Given the description of an element on the screen output the (x, y) to click on. 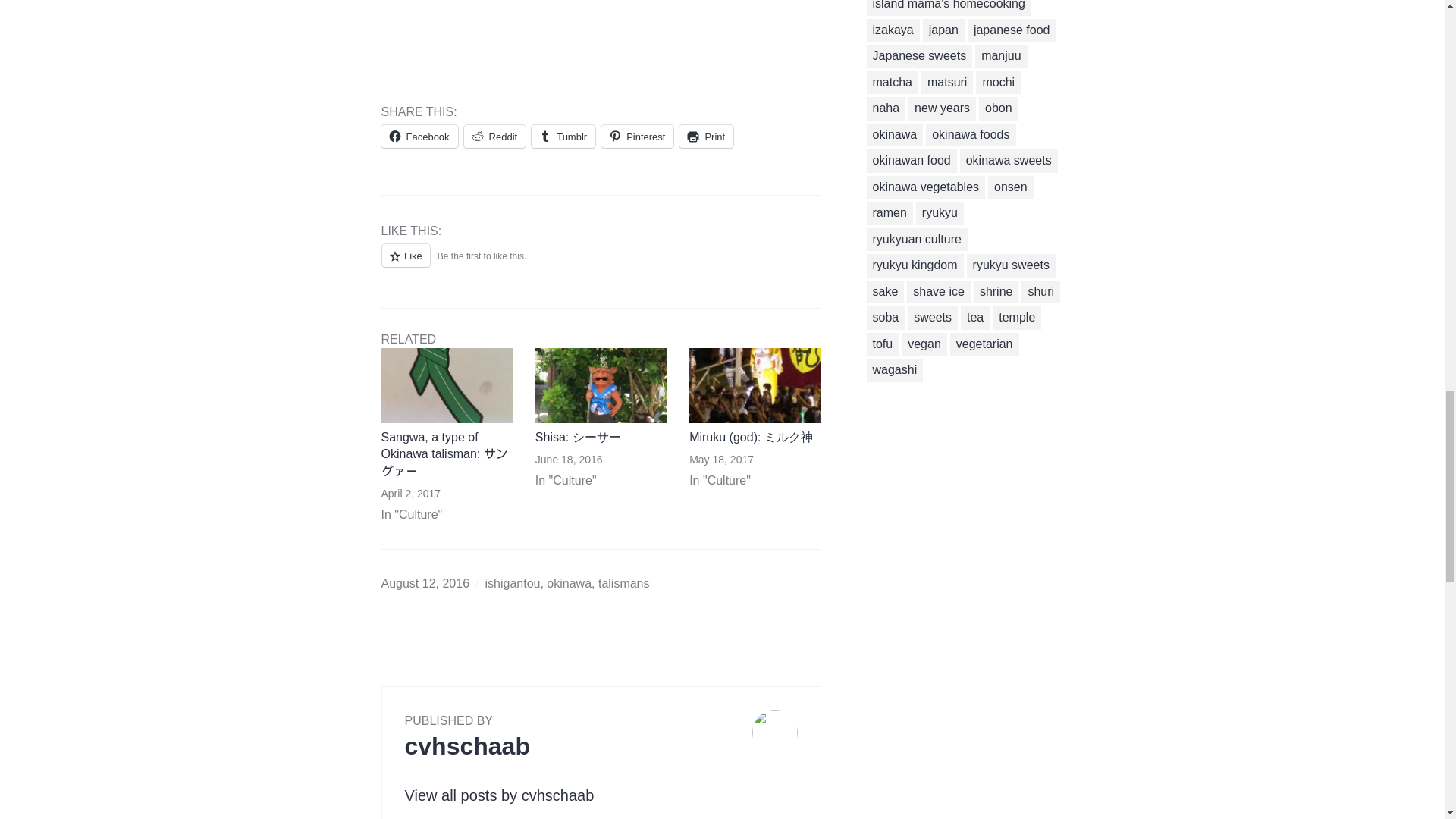
Print (706, 136)
Reddit (494, 136)
August 12, 2016 (424, 583)
Click to print (706, 136)
ishigantou (512, 583)
Click to share on Pinterest (636, 136)
Click to share on Facebook (418, 136)
Like or Reblog (600, 263)
Click to share on Tumblr (563, 136)
okinawa (569, 583)
View all posts by cvhschaab (499, 795)
Tumblr (563, 136)
talismans (623, 583)
Facebook (418, 136)
Click to share on Reddit (494, 136)
